Given the description of an element on the screen output the (x, y) to click on. 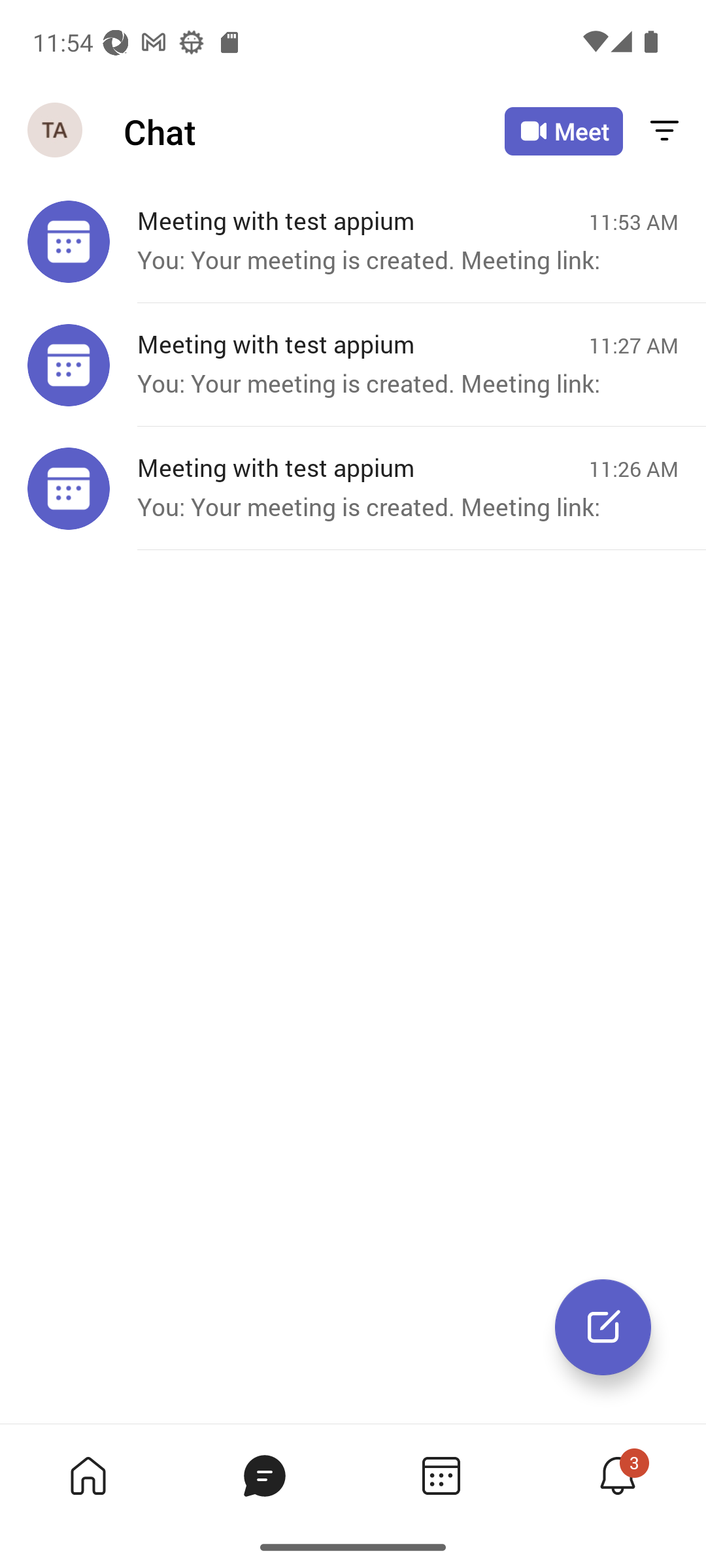
Filter chat messages (664, 131)
Navigation (56, 130)
Meet Meet now or join with an ID (563, 130)
New chat (602, 1327)
Home tab,1 of 4, not selected (88, 1475)
Chat tab, 2 of 4 (264, 1475)
Calendar tab,3 of 4, not selected (441, 1475)
Activity tab,4 of 4, not selected, 3 new 3 (617, 1475)
